Given the description of an element on the screen output the (x, y) to click on. 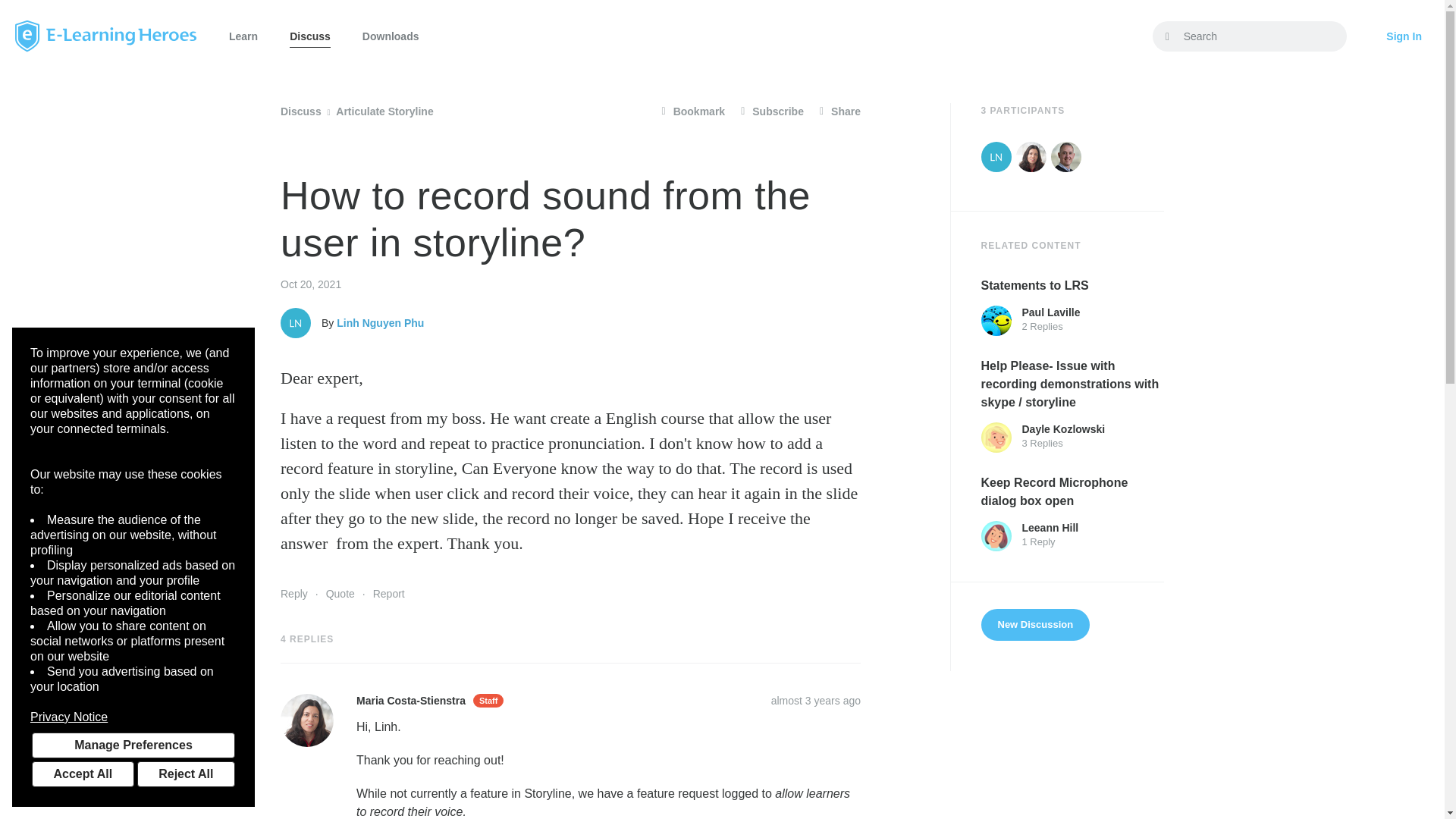
Paul Laville (996, 320)
Copy URL to Clipboard (815, 700)
Maria Costa-Stienstra (1031, 156)
Maria Costa-Stienstra (307, 719)
Sign In (1404, 36)
Privacy Notice (132, 717)
Manage Preferences (133, 745)
E-Learning Heroes (105, 36)
Linh Nguyen Phu (996, 156)
Reject All (185, 774)
